Given the description of an element on the screen output the (x, y) to click on. 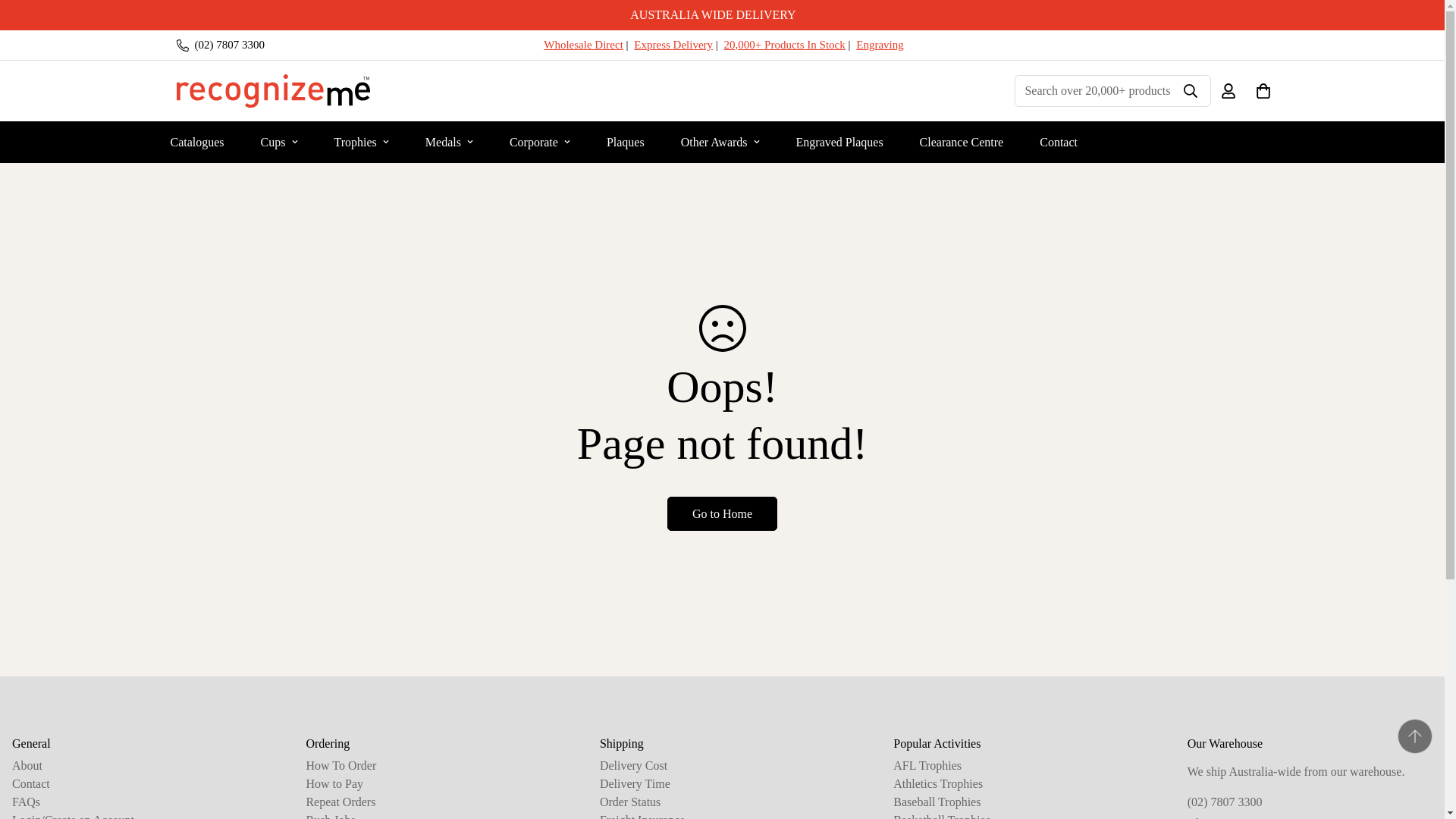
Engraving (879, 44)
Express Delivery (673, 44)
Recognizeme (272, 90)
Trophies (360, 141)
Cups (279, 141)
Catalogues (196, 141)
AUSTRALIA WIDE DELIVERY (722, 15)
Wholesale Direct (583, 44)
